Given the description of an element on the screen output the (x, y) to click on. 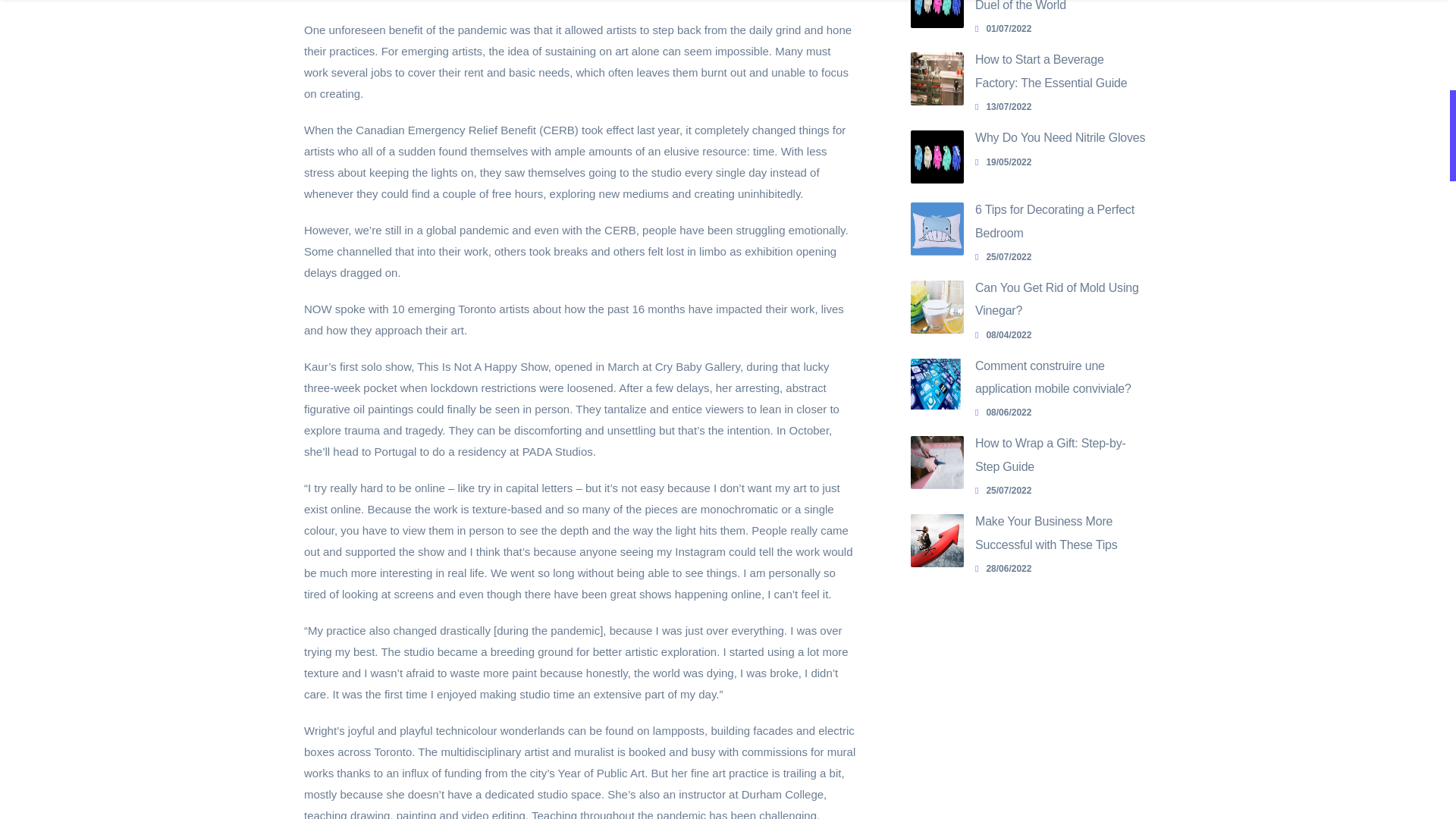
Pick your Gloves to Accept the Duel of the World (1055, 5)
Pick your Gloves to Accept the Duel of the World (1060, 28)
How to Start a Beverage Factory: The Essential Guide (937, 78)
How to Start a Beverage Factory: The Essential Guide (1050, 70)
6 Tips for Decorating a Perfect Bedroom (1054, 221)
How to Start a Beverage Factory: The Essential Guide (1050, 70)
Pick your Gloves to Accept the Duel of the World (1055, 5)
Pick your Gloves to Accept the Duel of the World (937, 13)
Why Do You Need Nitrile Gloves (1059, 137)
Can You Get Rid of Mold Using Vinegar? (1056, 298)
